Given the description of an element on the screen output the (x, y) to click on. 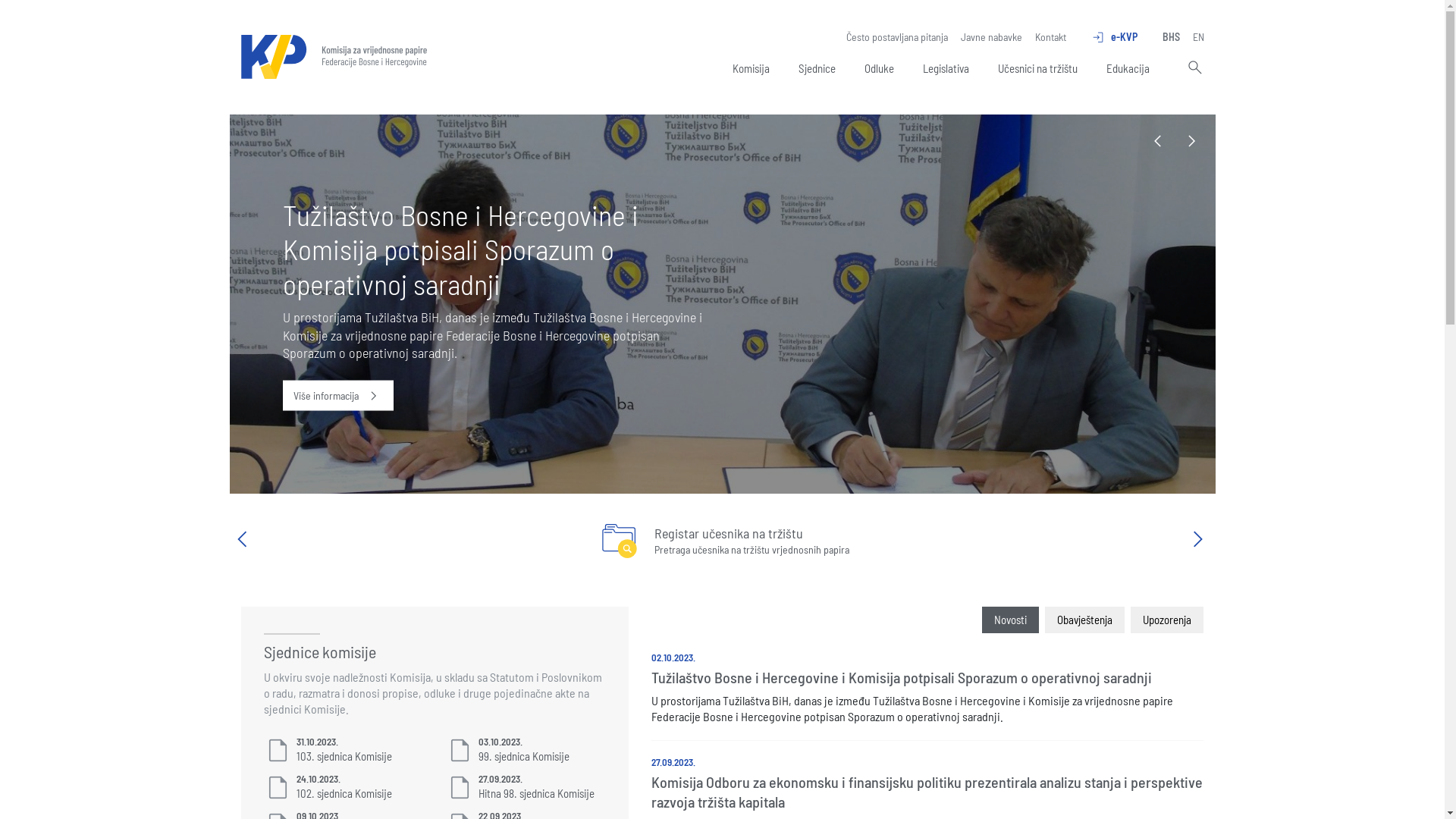
Kontakt Element type: text (1049, 36)
draft
24.10.2023.
102. sjednica Komisije Element type: text (343, 787)
Upozorenja Element type: text (1166, 619)
Sjednice Element type: text (816, 70)
Novosti Element type: text (1010, 619)
search Element type: text (1192, 68)
EN Element type: text (1197, 36)
Javne nabavke Element type: text (990, 36)
Edukacija Element type: text (1127, 70)
e-KVP
login Element type: text (1113, 36)
BHS Element type: text (1170, 36)
Legislativa Element type: text (945, 70)
Odluke Element type: text (878, 70)
draft
31.10.2023.
103. sjednica Komisije Element type: text (343, 750)
Komisija Element type: text (750, 70)
draft
27.09.2023.
Hitna 98. sjednica Komisije Element type: text (525, 787)
draft
03.10.2023.
99. sjednica Komisije Element type: text (525, 750)
